Given the description of an element on the screen output the (x, y) to click on. 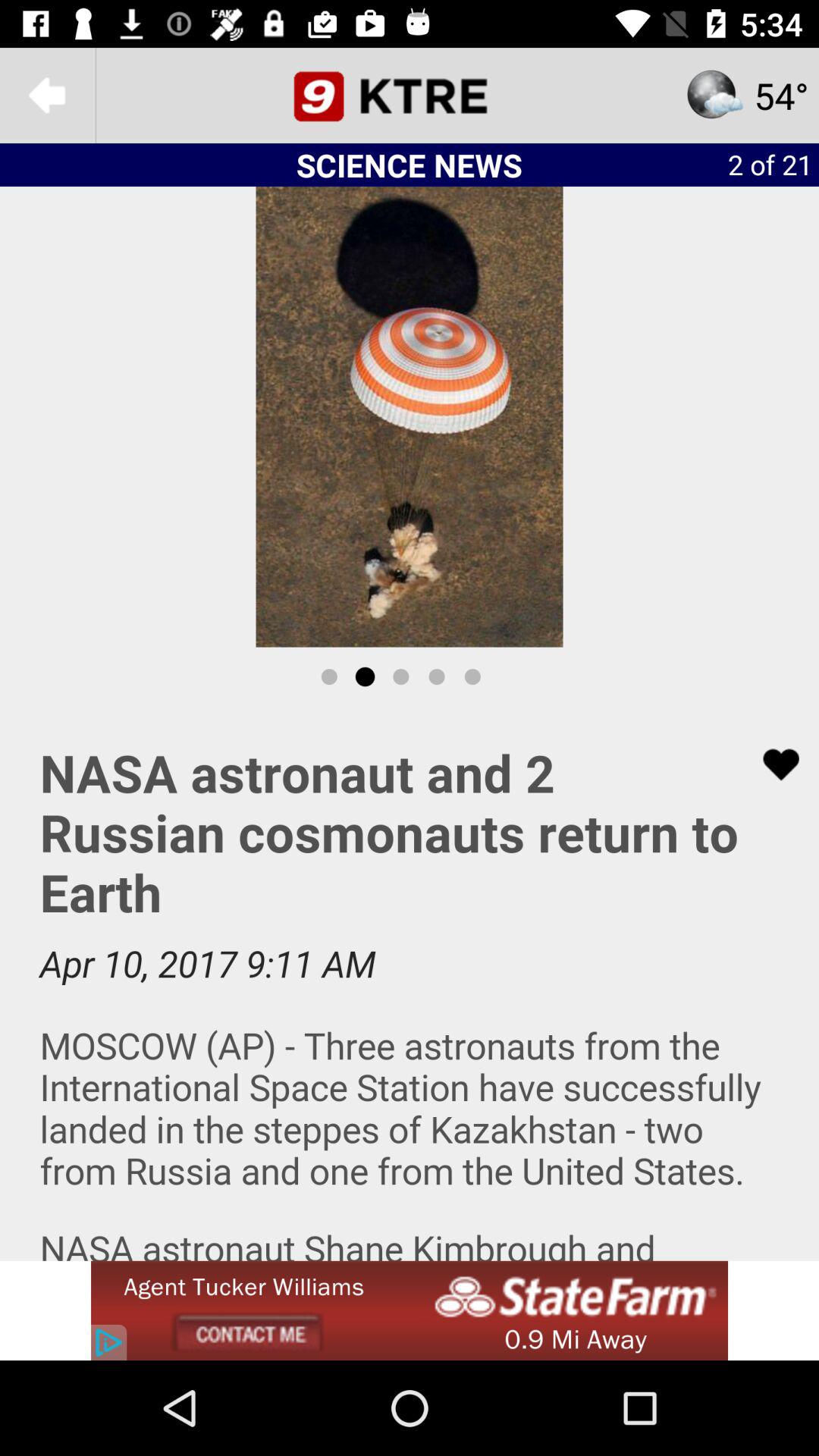
goto back (47, 95)
